Given the description of an element on the screen output the (x, y) to click on. 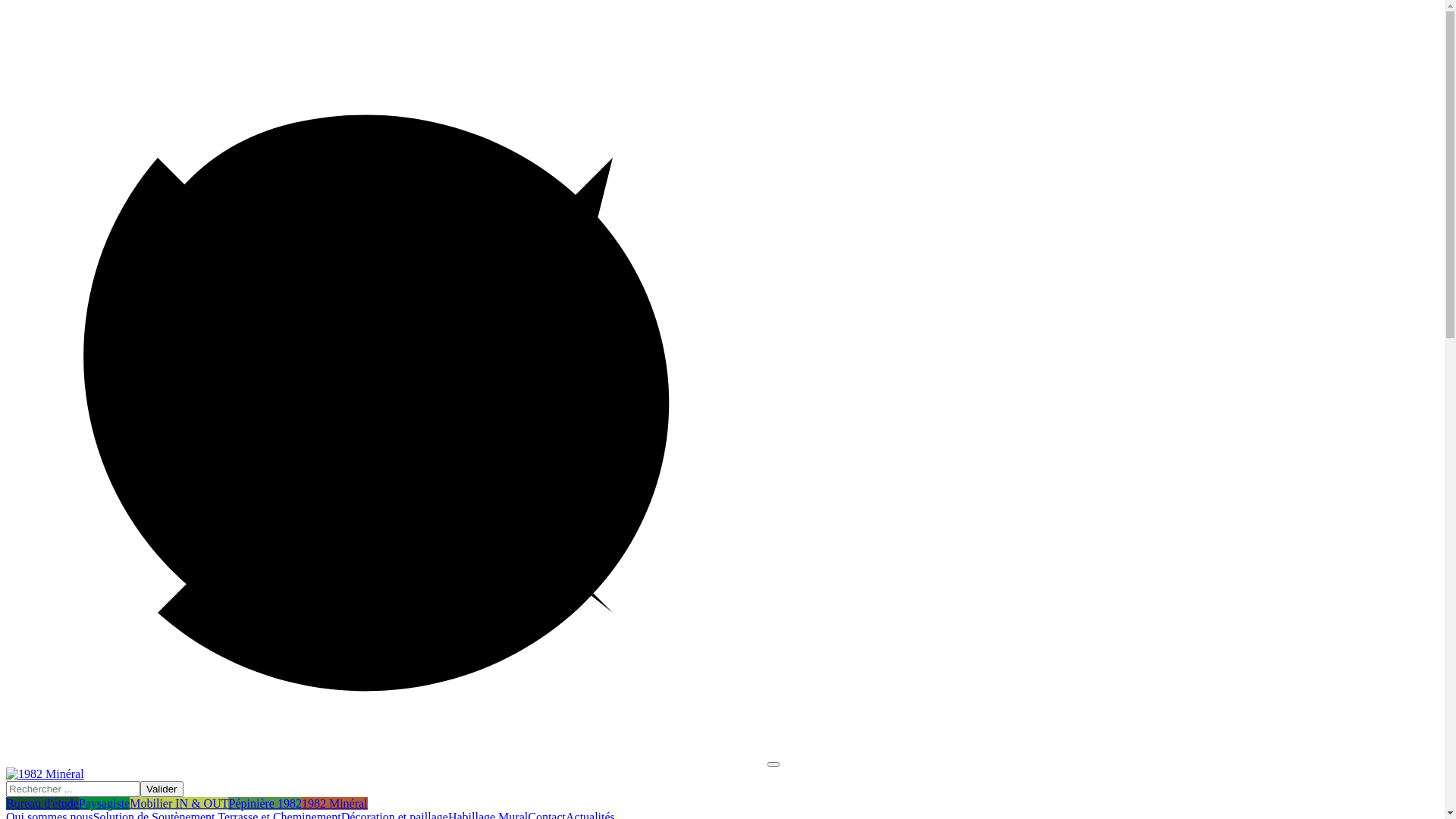
Paysagiste Element type: text (104, 803)
Valider Element type: text (161, 789)
Mobilier IN & OUT Element type: text (178, 803)
